Given the description of an element on the screen output the (x, y) to click on. 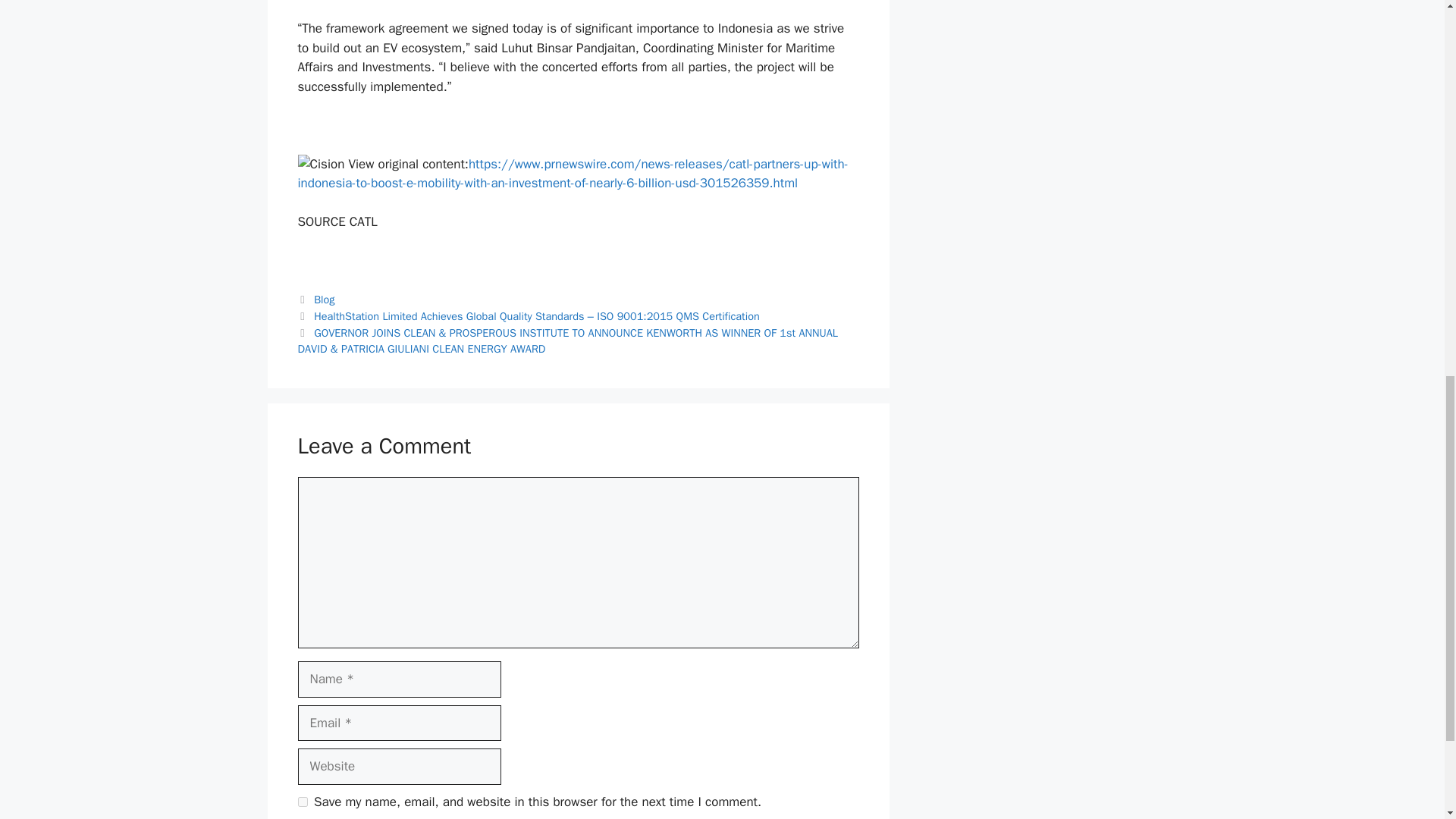
yes (302, 801)
Scroll back to top (1406, 720)
Blog (324, 299)
Cision (320, 164)
